Given the description of an element on the screen output the (x, y) to click on. 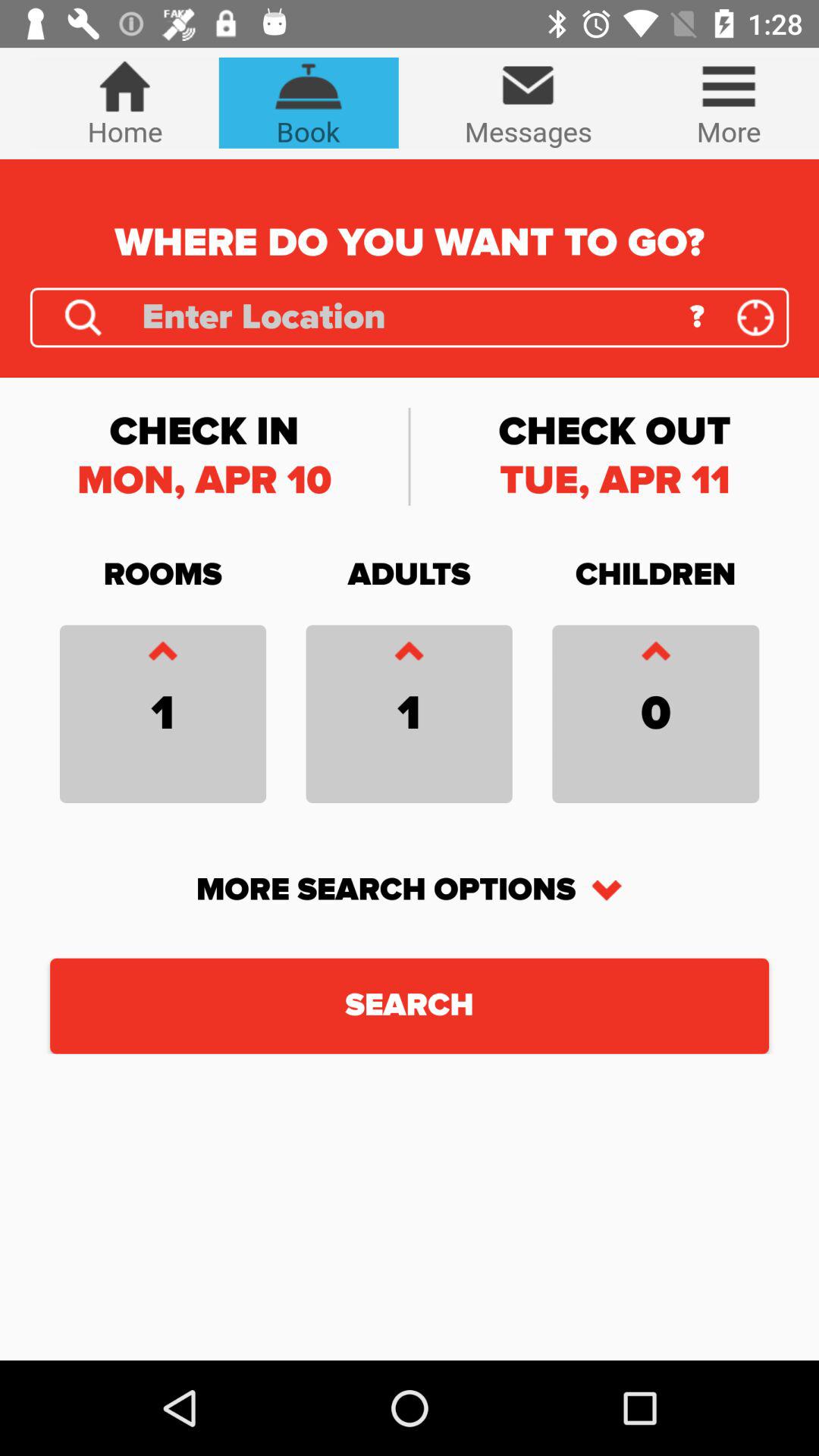
add an item (408, 654)
